Given the description of an element on the screen output the (x, y) to click on. 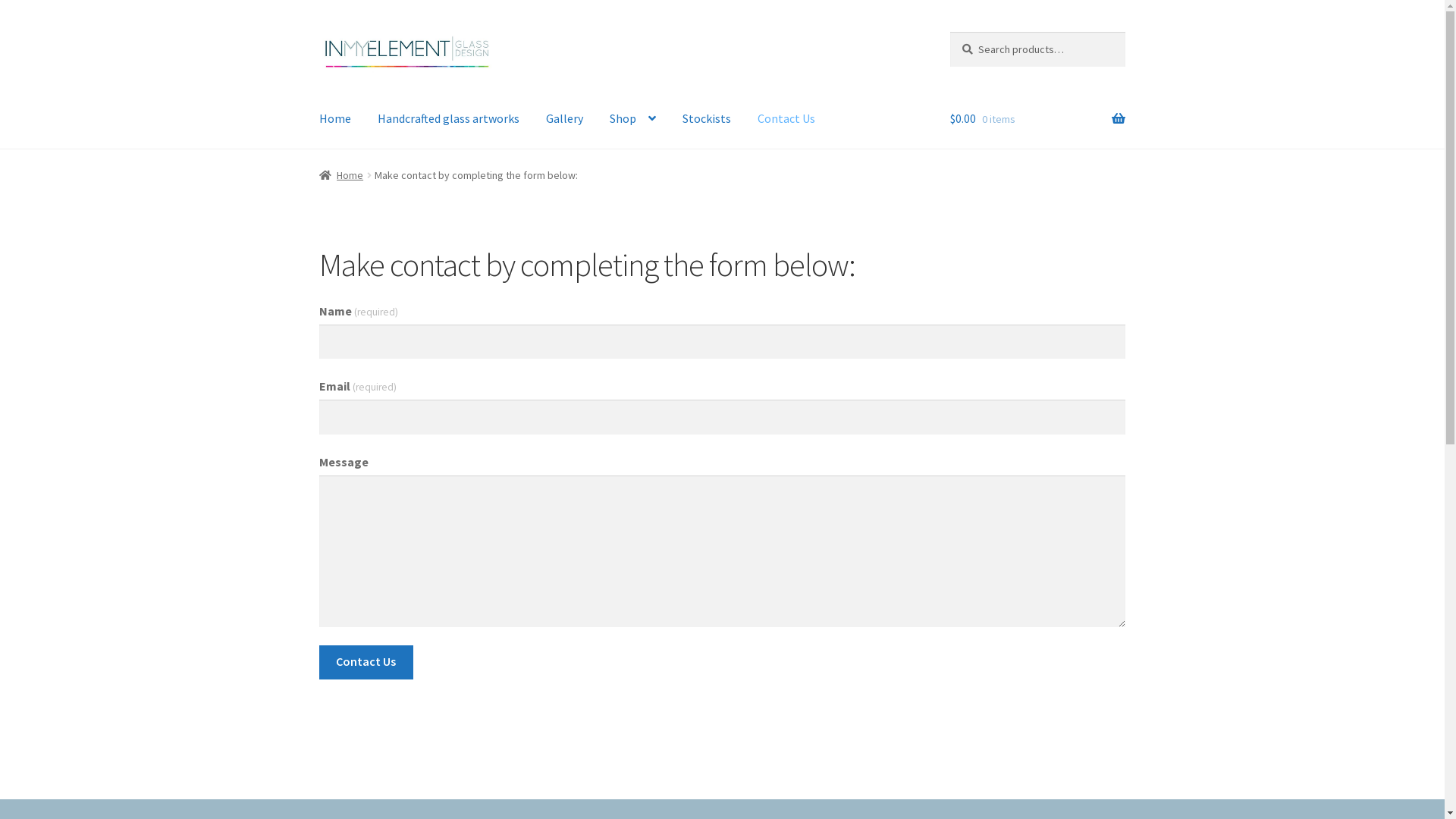
Gallery Element type: text (564, 118)
$0.00 0 items Element type: text (1037, 118)
Handcrafted glass artworks Element type: text (448, 118)
Home Element type: text (341, 175)
Search Element type: text (949, 31)
Stockists Element type: text (706, 118)
Contact Us Element type: text (786, 118)
Skip to navigation Element type: text (318, 31)
Home Element type: text (335, 118)
Contact Us Element type: text (366, 662)
Shop Element type: text (632, 118)
